Given the description of an element on the screen output the (x, y) to click on. 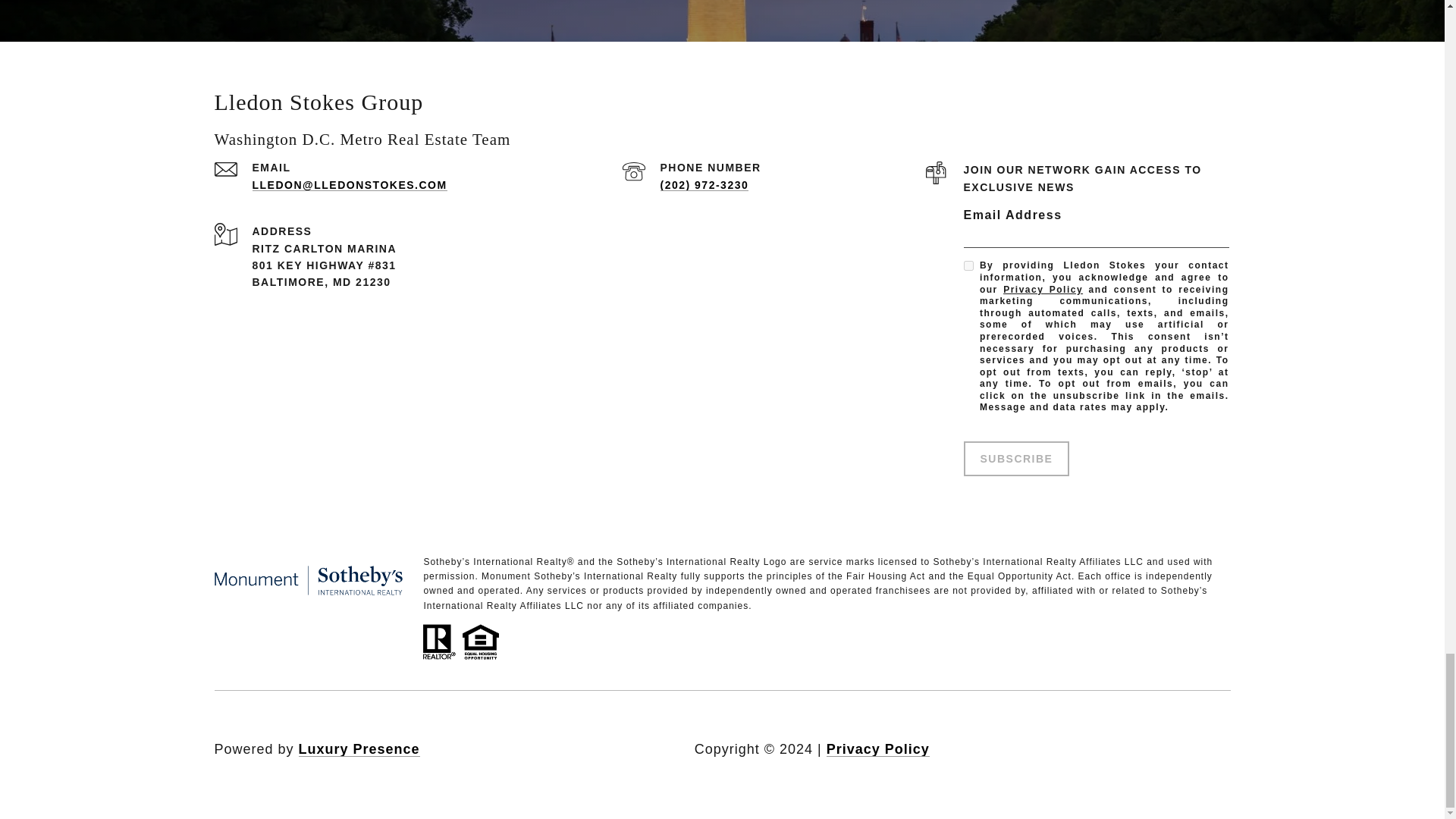
on (967, 266)
